Given the description of an element on the screen output the (x, y) to click on. 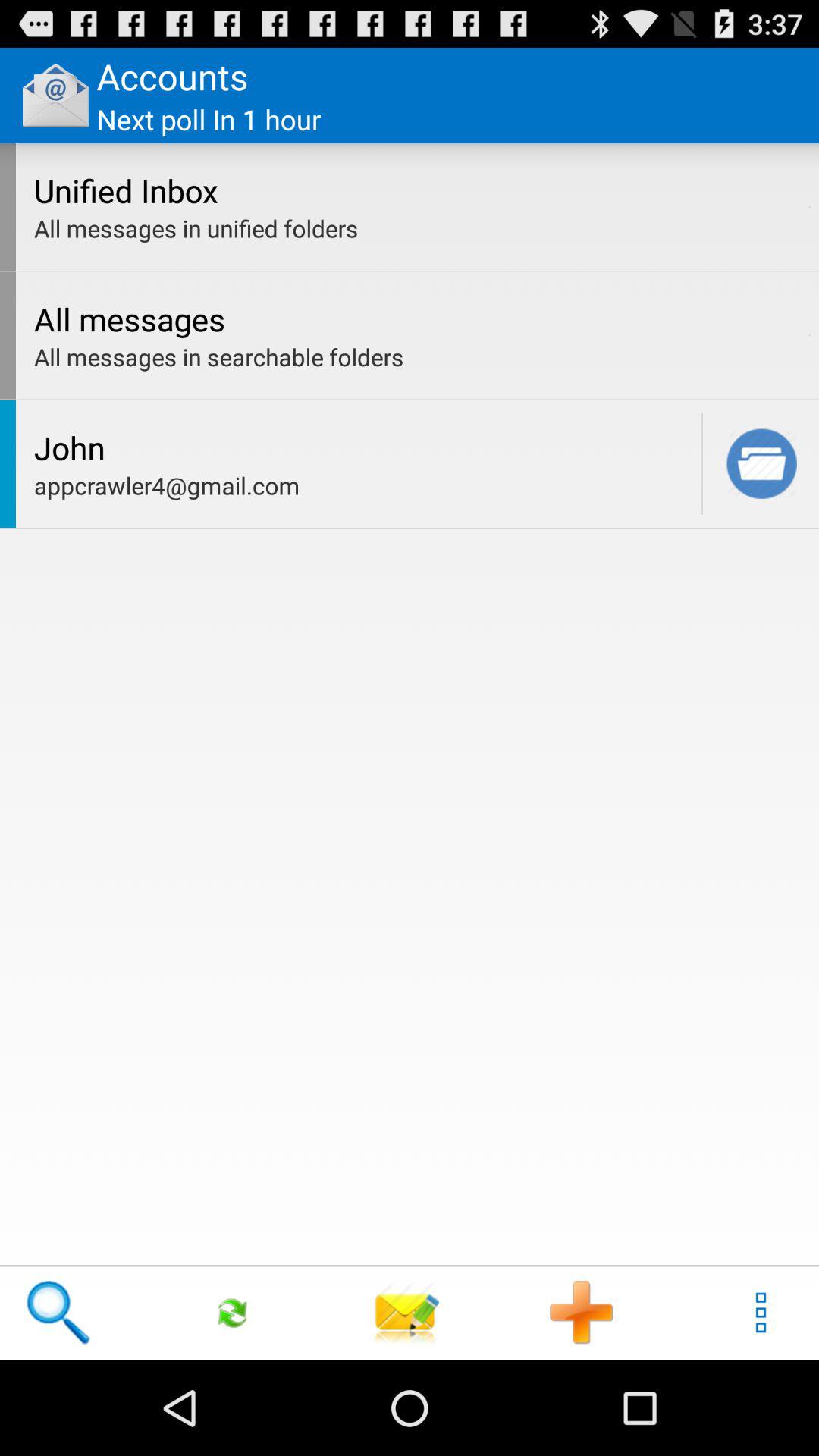
scroll to the appcrawler4@gmail.com app (363, 485)
